Given the description of an element on the screen output the (x, y) to click on. 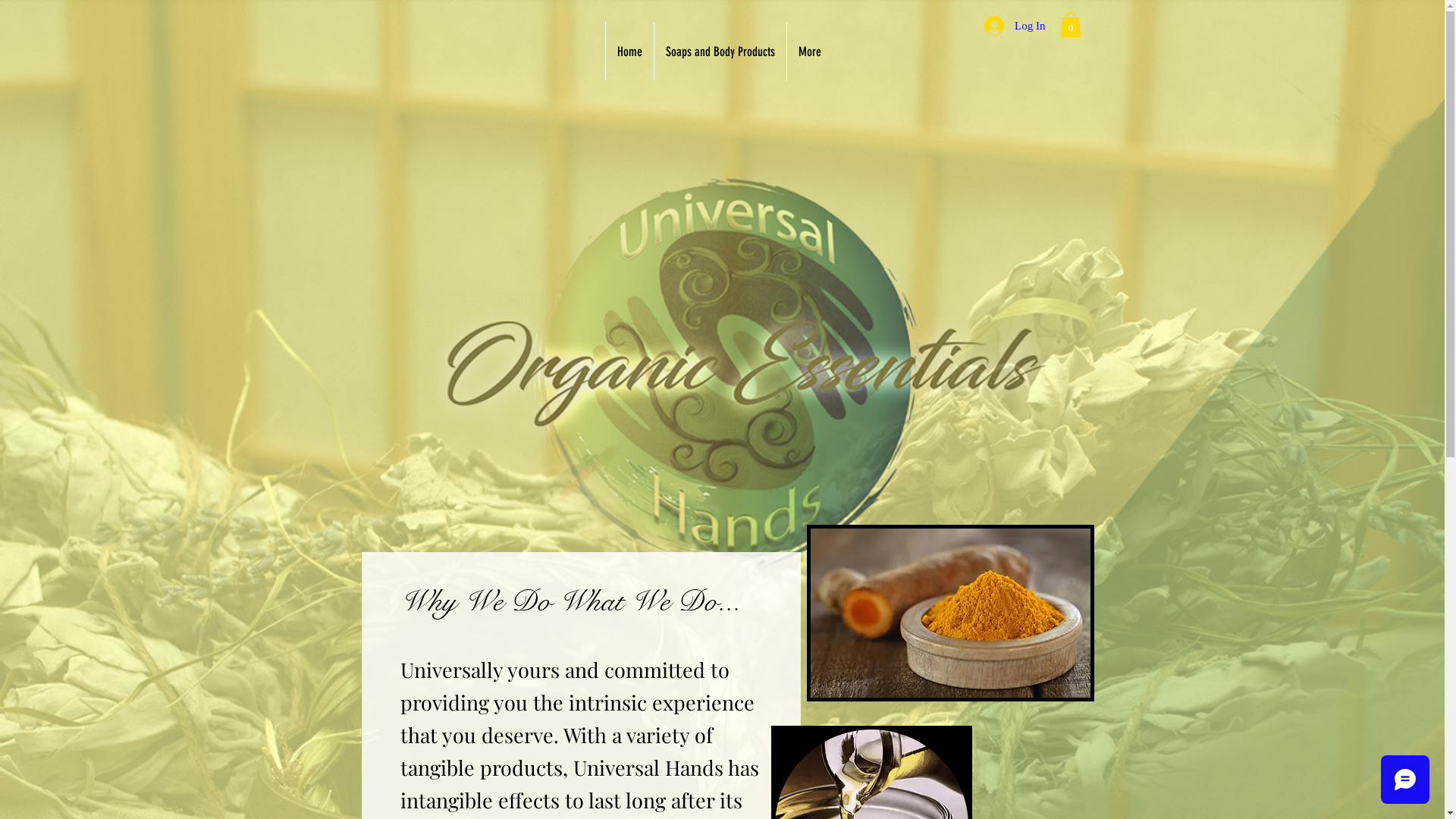
Home Element type: text (629, 51)
0 Element type: text (1070, 24)
Log In Element type: text (1014, 25)
Soaps and Body Products Element type: text (719, 51)
